Given the description of an element on the screen output the (x, y) to click on. 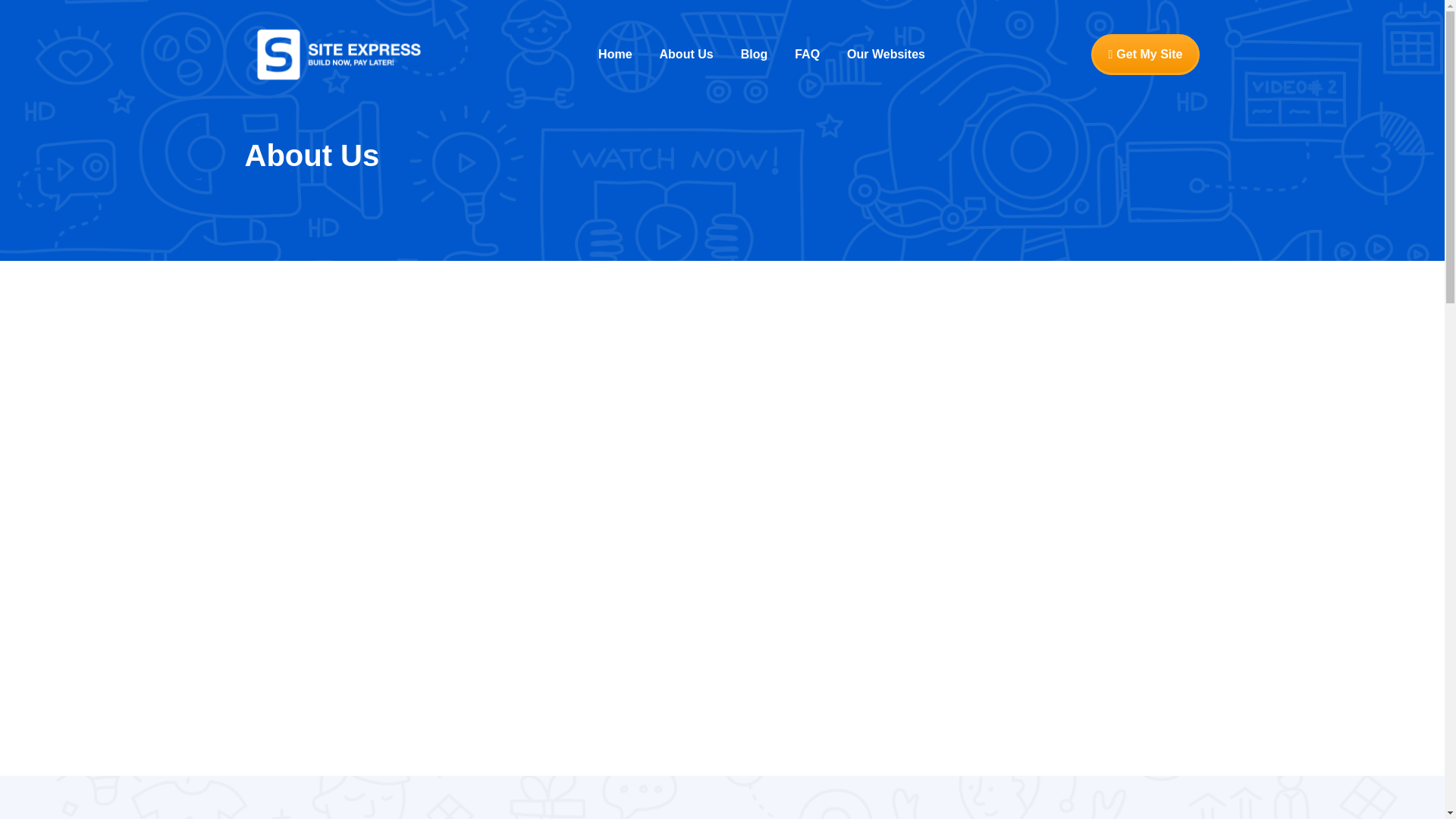
Get My Site (1144, 55)
Our Websites (885, 55)
Blog (753, 55)
Home (615, 55)
About Us (686, 55)
